Given the description of an element on the screen output the (x, y) to click on. 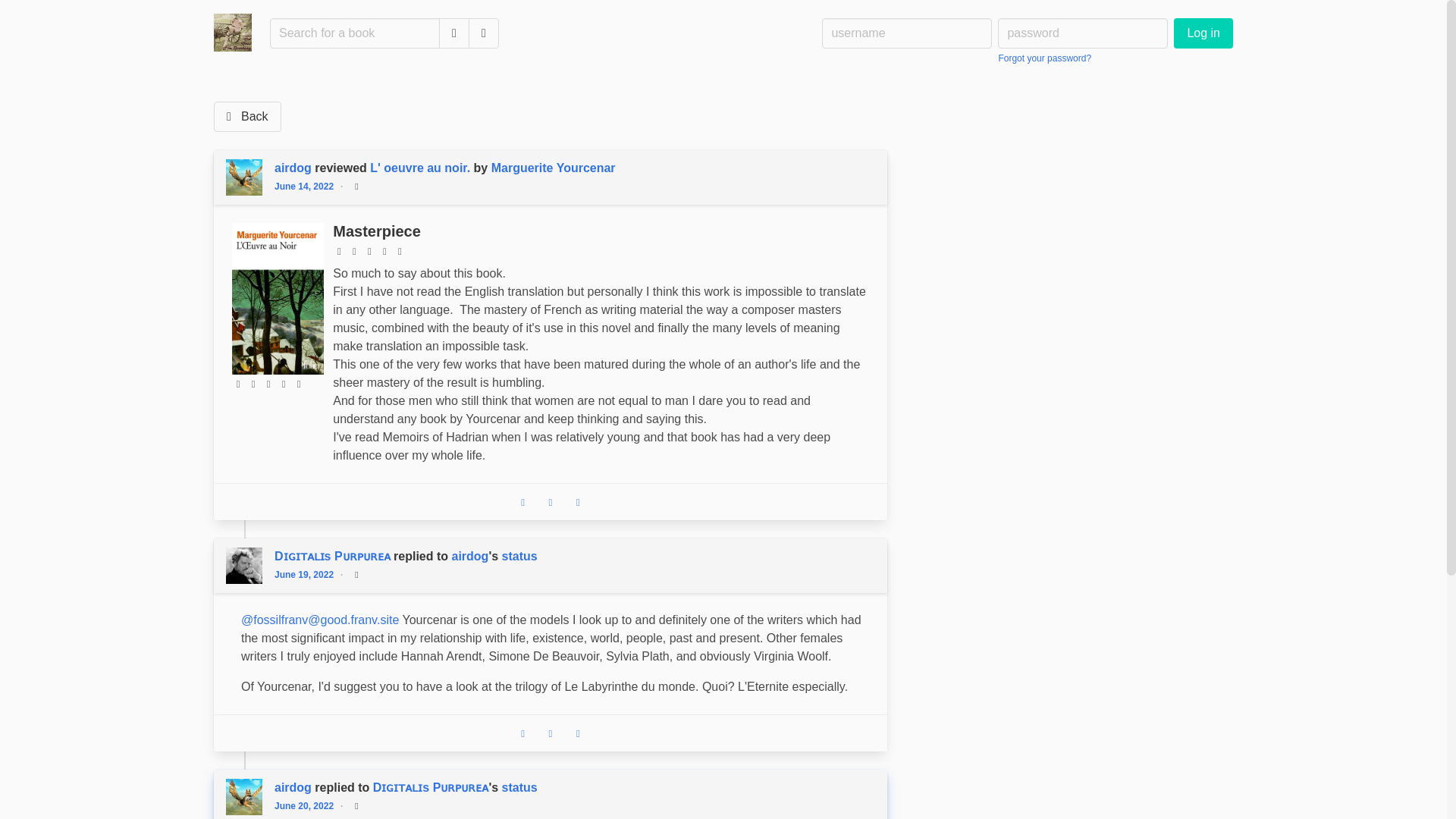
Scan Barcode (483, 33)
June 14, 2022 (307, 186)
L' oeuvre au noir. (419, 167)
Back (247, 116)
Public (356, 574)
June 20, 2022 (307, 806)
airdog (294, 167)
Reply (522, 501)
Boost status (550, 501)
Reply (522, 733)
